Given the description of an element on the screen output the (x, y) to click on. 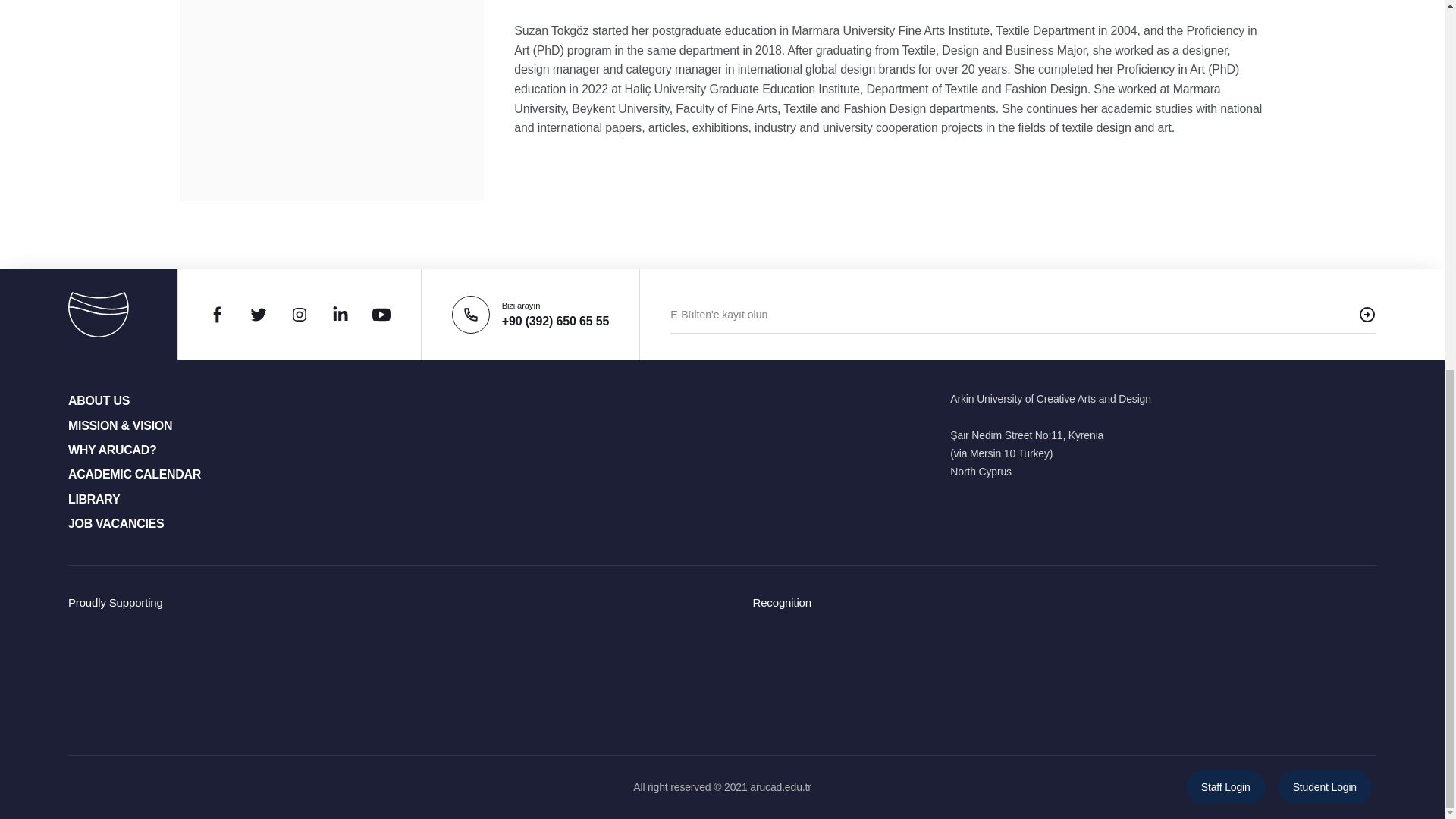
JOB VACANCIES (115, 522)
ABOUT US (98, 400)
LIBRARY (93, 499)
ACADEMIC CALENDAR (134, 473)
WHY ARUCAD? (111, 449)
arucad.edu.tr (779, 787)
